Given the description of an element on the screen output the (x, y) to click on. 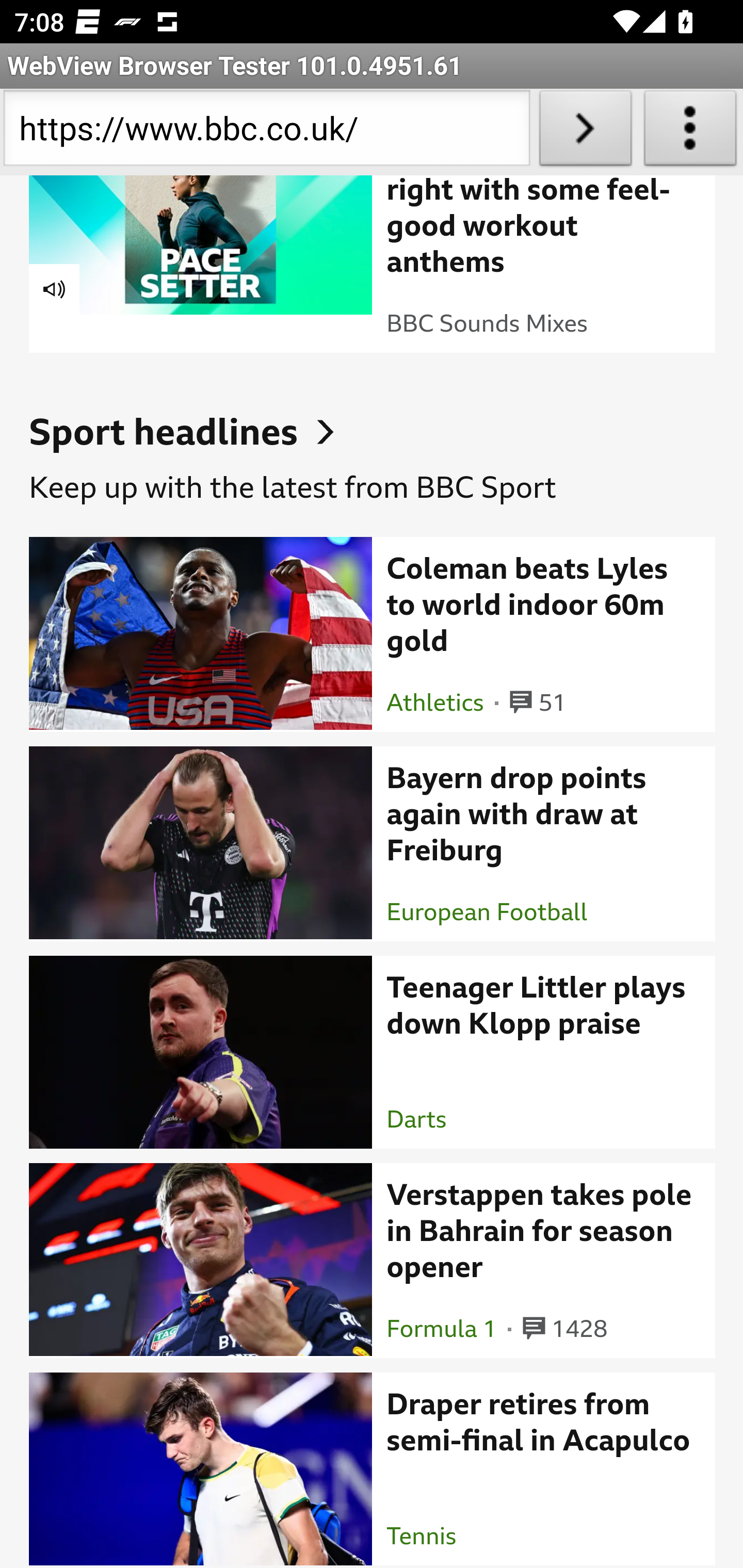
https://www.bbc.co.uk/ (266, 132)
Load URL (585, 132)
About WebView (690, 132)
